Given the description of an element on the screen output the (x, y) to click on. 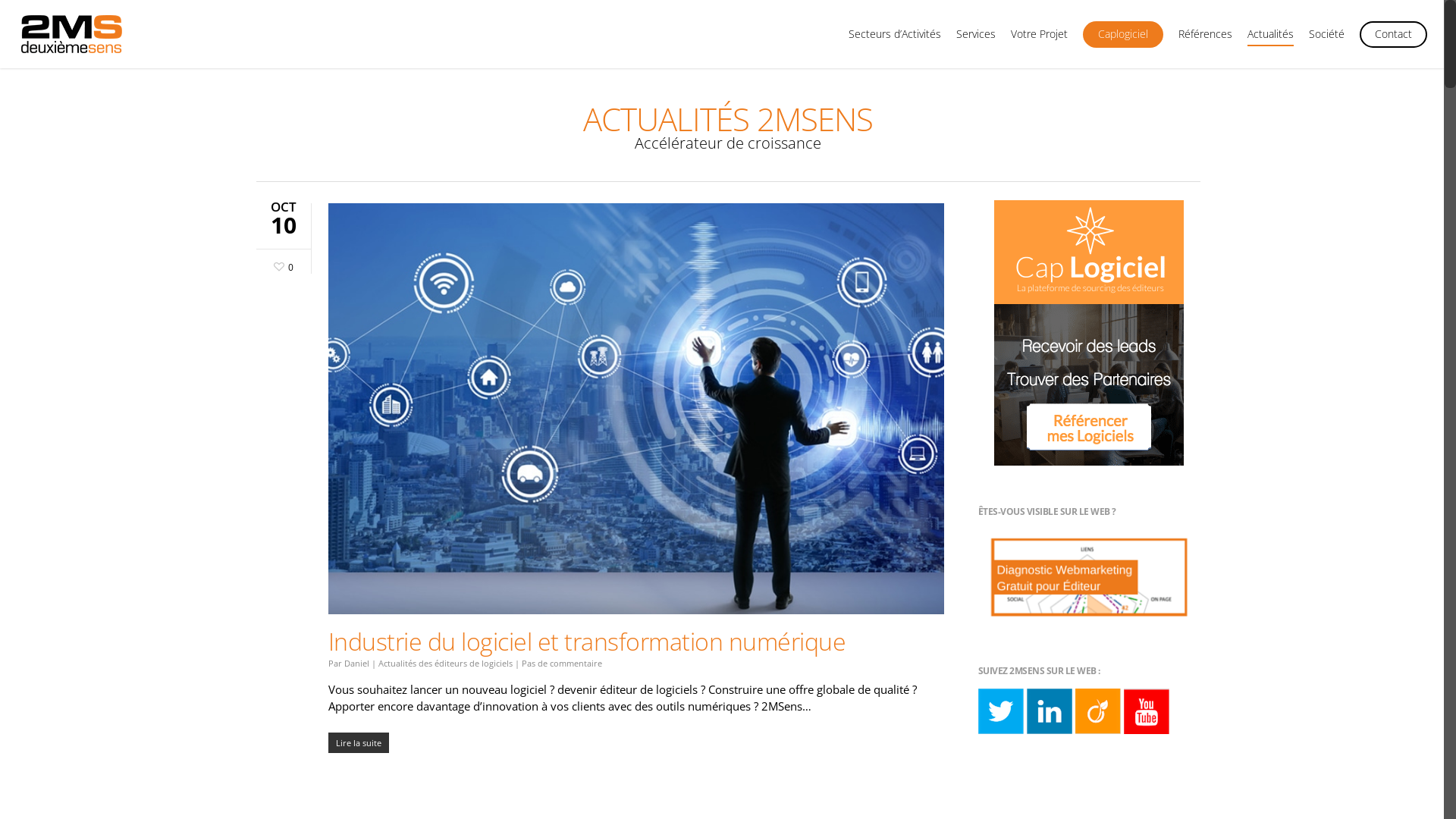
Votre Projet Element type: text (1038, 41)
Lire la suite Element type: text (635, 742)
Caplogiciel Element type: text (1122, 41)
Pas de commentaire Element type: text (561, 662)
0 Element type: text (280, 264)
Services Element type: text (975, 41)
Contact Element type: text (1393, 41)
Daniel Element type: text (356, 662)
